Given the description of an element on the screen output the (x, y) to click on. 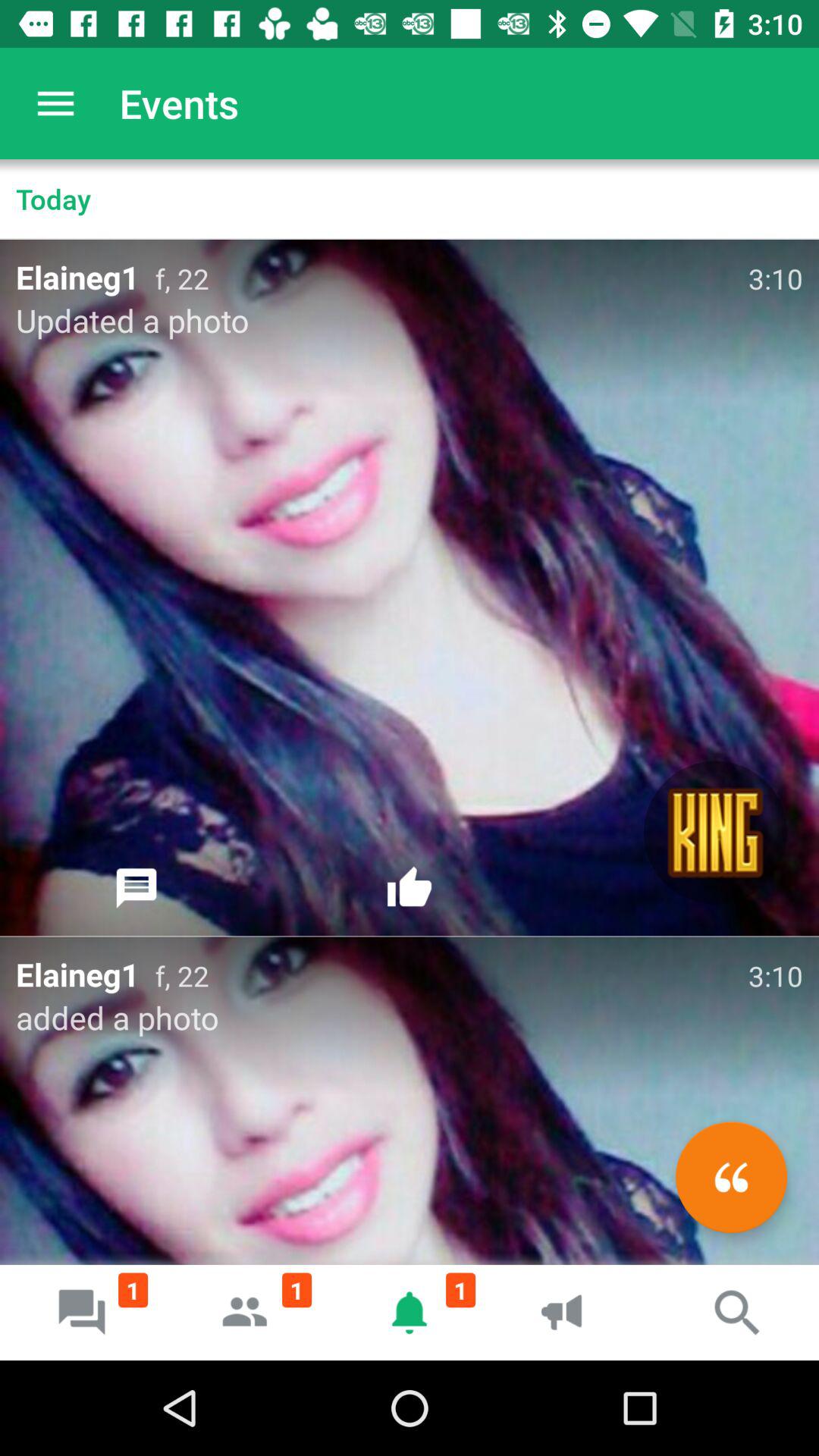
choose item below f, 22 icon (731, 1177)
